Given the description of an element on the screen output the (x, y) to click on. 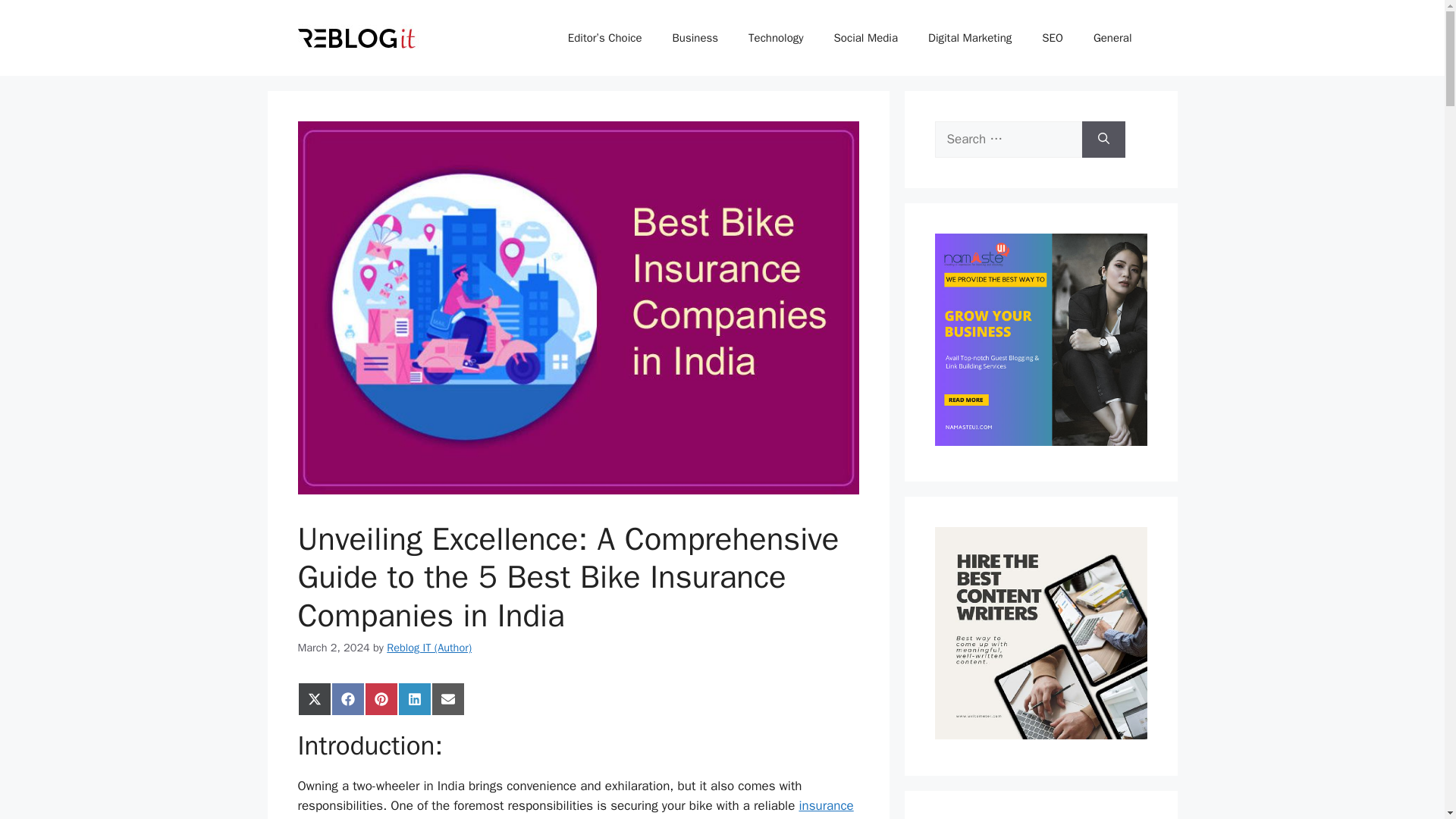
Namaste UI (1040, 441)
Share on LinkedIn (413, 698)
Business (695, 37)
Digital Marketing (969, 37)
Search for: (1007, 139)
Social Media (865, 37)
General (1112, 37)
SEO (1052, 37)
WritoMeter - Best Content Writing Agency (1040, 734)
Share on Pinterest (380, 698)
Technology (775, 37)
Share on Email (447, 698)
Share on Facebook (347, 698)
insurance policy (575, 808)
